Given the description of an element on the screen output the (x, y) to click on. 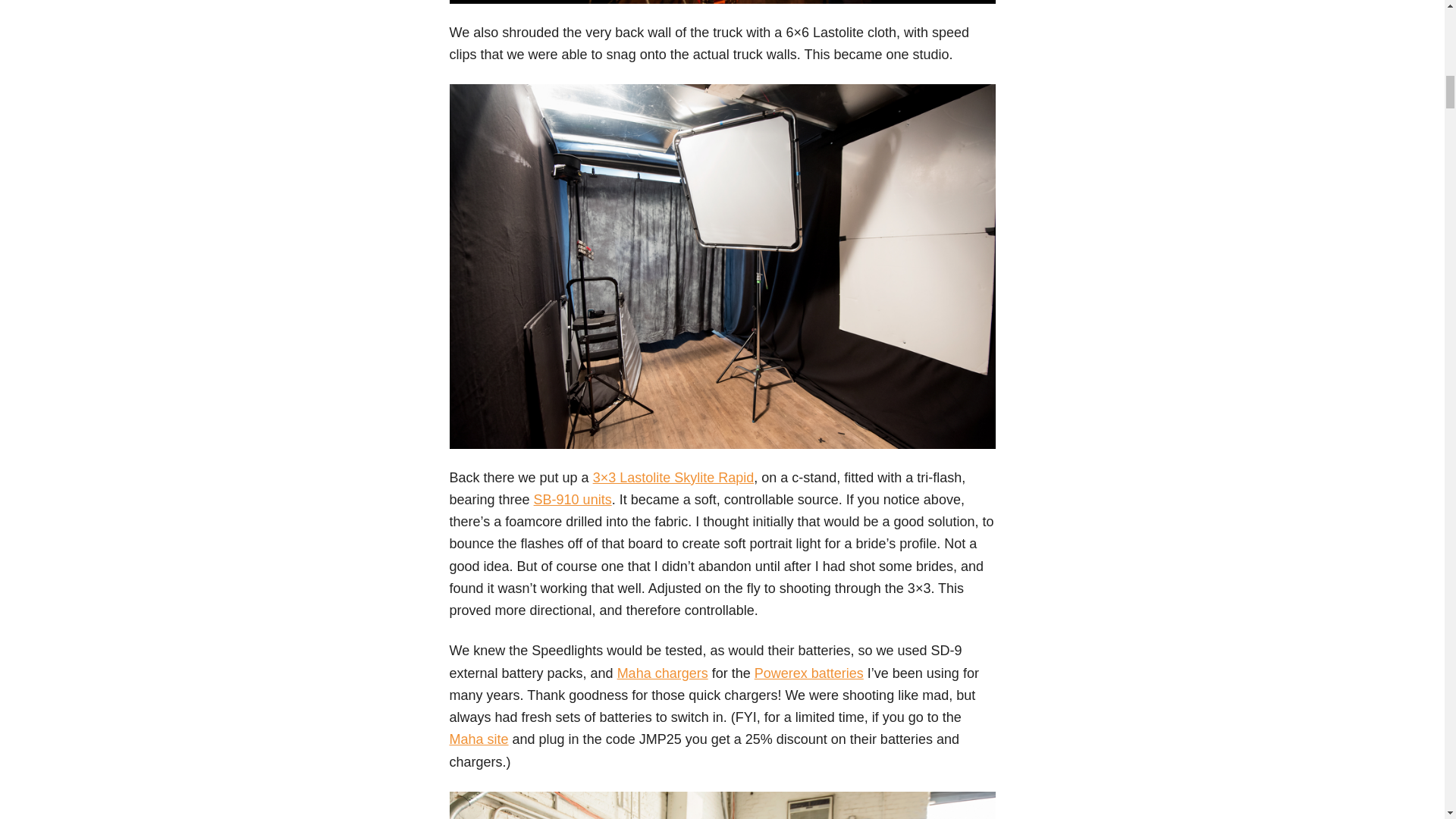
SB-910 units (572, 499)
Powerex batteries (808, 672)
Maha site (478, 739)
Maha chargers (662, 672)
